Given the description of an element on the screen output the (x, y) to click on. 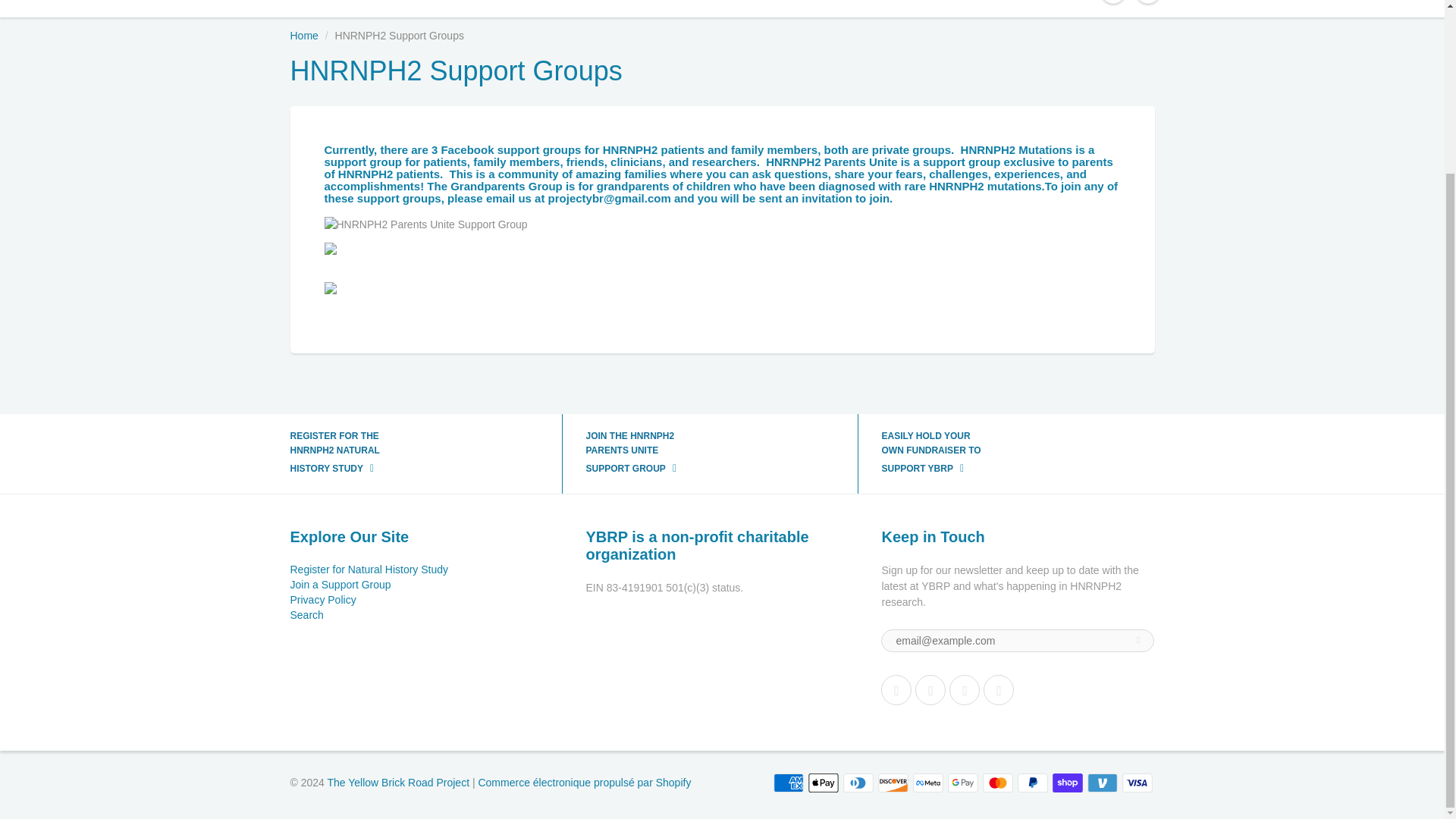
GET INVOLVED (797, 8)
Venmo (1102, 782)
Twitter (895, 689)
DONATE (956, 8)
Mastercard (997, 782)
CONNECT (700, 8)
Shop Pay (1067, 782)
YouTube (998, 689)
Meta Pay (927, 782)
Google Pay (962, 782)
American Express (788, 782)
Instagram (964, 689)
Discover (892, 782)
Diners Club (858, 782)
ABOUT HNRNPH2 (495, 8)
